Given the description of an element on the screen output the (x, y) to click on. 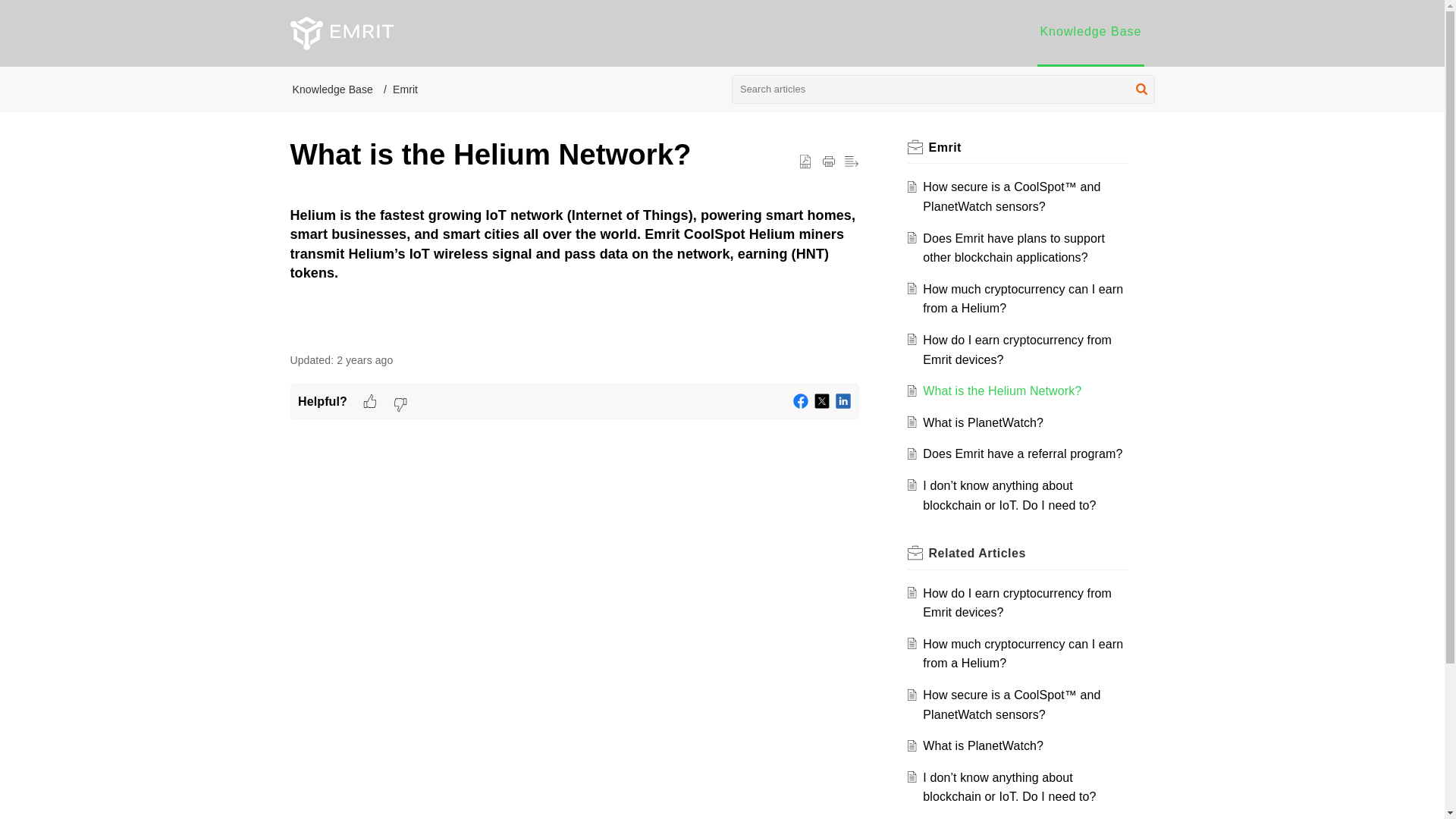
How much cryptocurrency can I earn from a Helium? (1022, 298)
How much cryptocurrency can I earn from a Helium? (1022, 654)
What is PlanetWatch? (983, 422)
How much cryptocurrency can I earn from a Helium? (1022, 298)
Knowledge Base (1090, 31)
LinkedIn (842, 400)
How do I earn cryptocurrency from Emrit devices? (1017, 349)
How do I earn cryptocurrency from Emrit devices? (1017, 349)
